Given the description of an element on the screen output the (x, y) to click on. 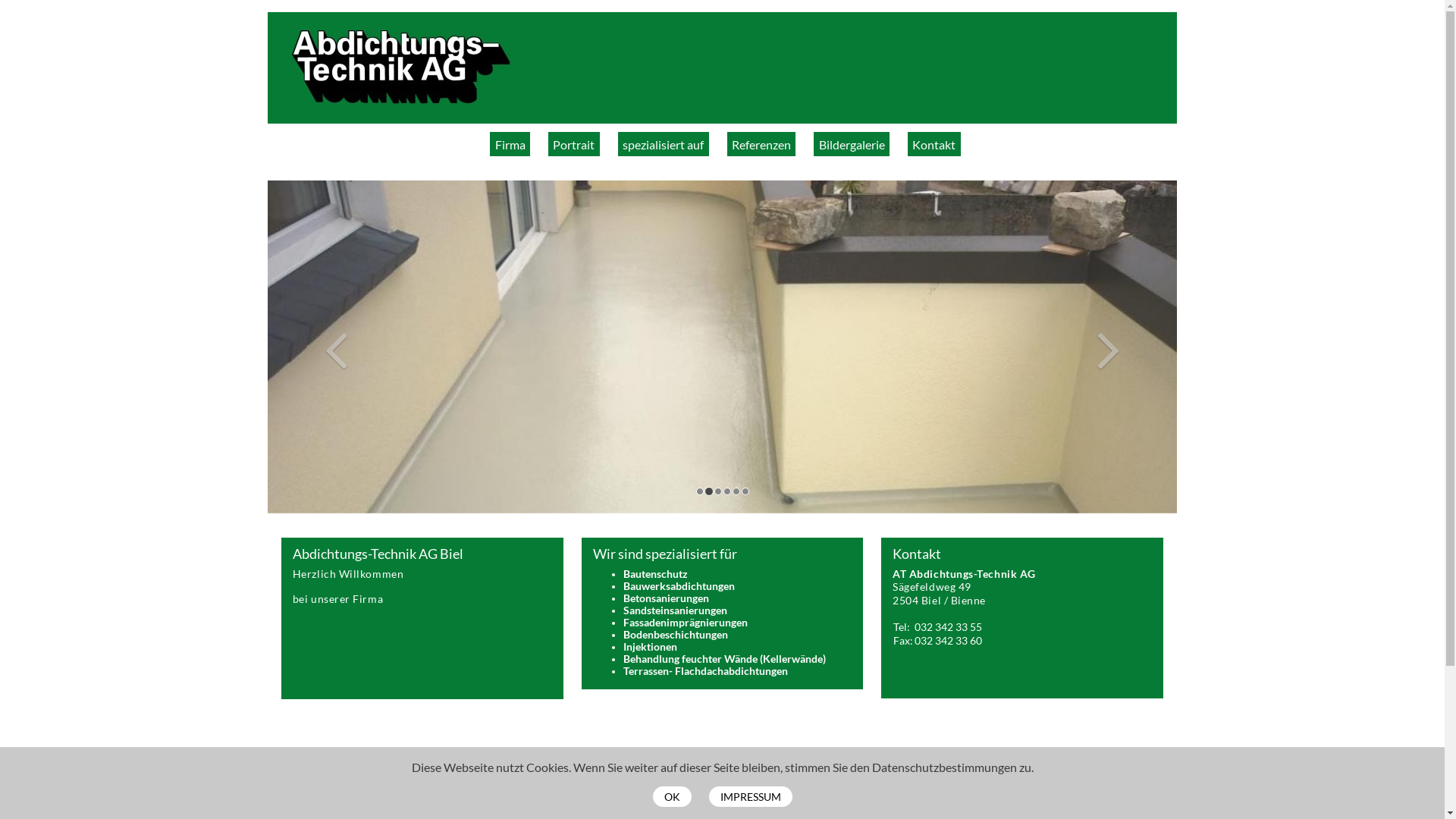
abdichtung@sunrise.ch Element type: text (951, 678)
spezialisiert auf Element type: text (663, 143)
Firma Element type: text (509, 143)
Previous Element type: text (335, 346)
OK Element type: text (671, 796)
Bildergalerie Element type: text (851, 143)
Kontakt Element type: text (933, 143)
Referenzen Element type: text (760, 143)
Portrait Element type: text (573, 143)
IMPRESSUM Element type: text (749, 796)
Next Element type: text (1108, 346)
